Given the description of an element on the screen output the (x, y) to click on. 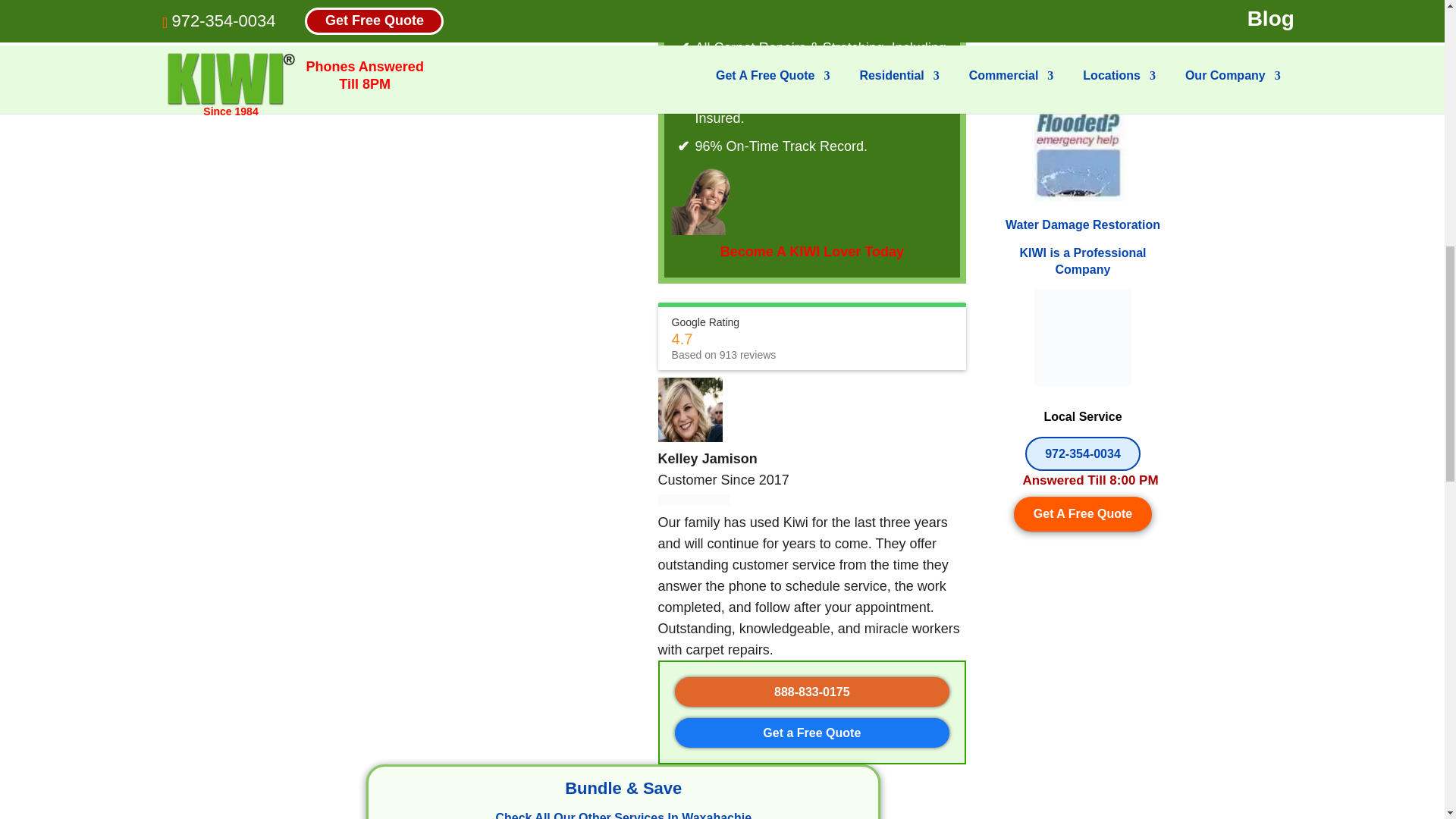
phone number (812, 691)
Get a Free Quote (811, 732)
